Given the description of an element on the screen output the (x, y) to click on. 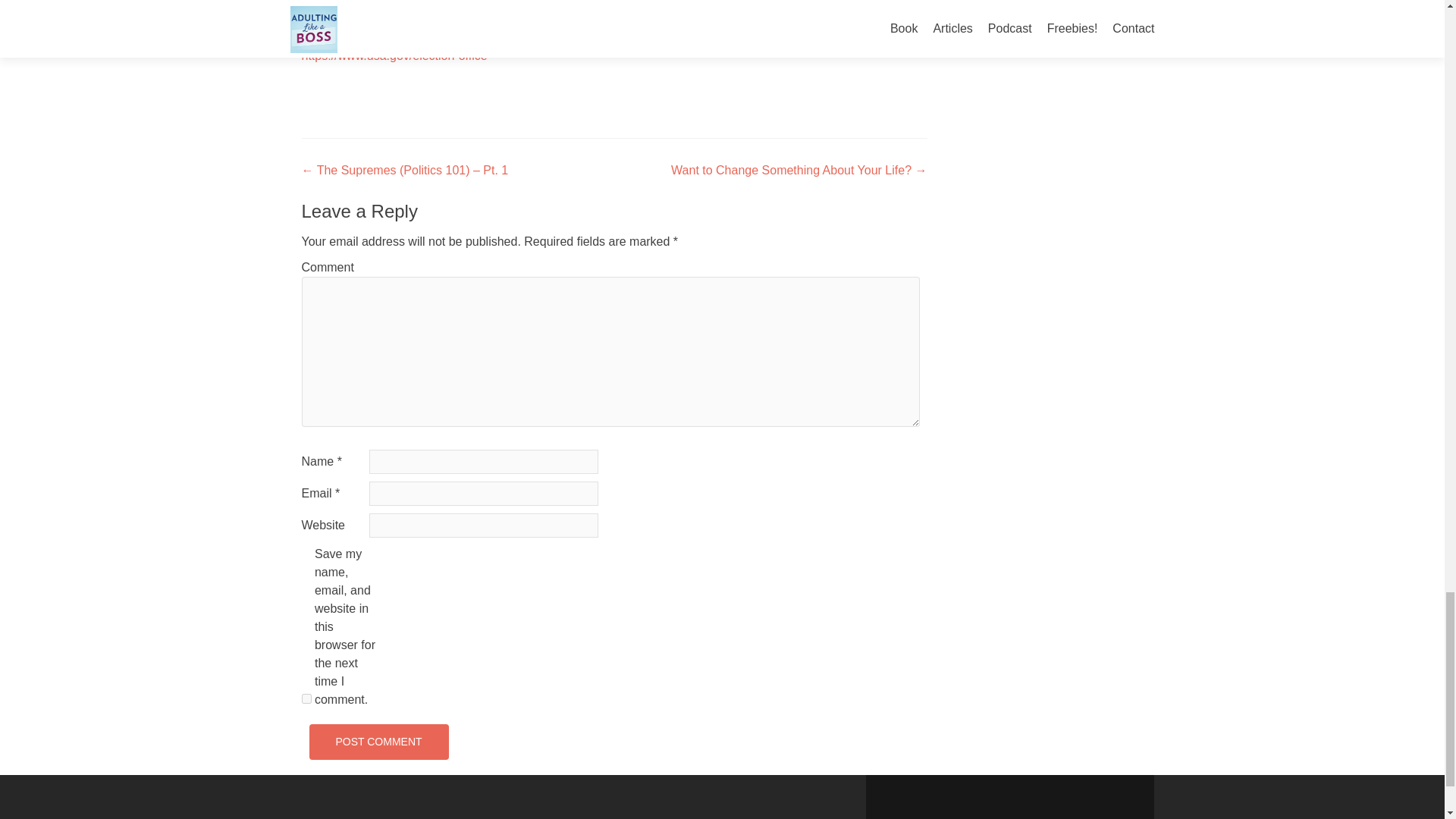
Post Comment (378, 741)
yes (306, 698)
Post Comment (378, 741)
